Given the description of an element on the screen output the (x, y) to click on. 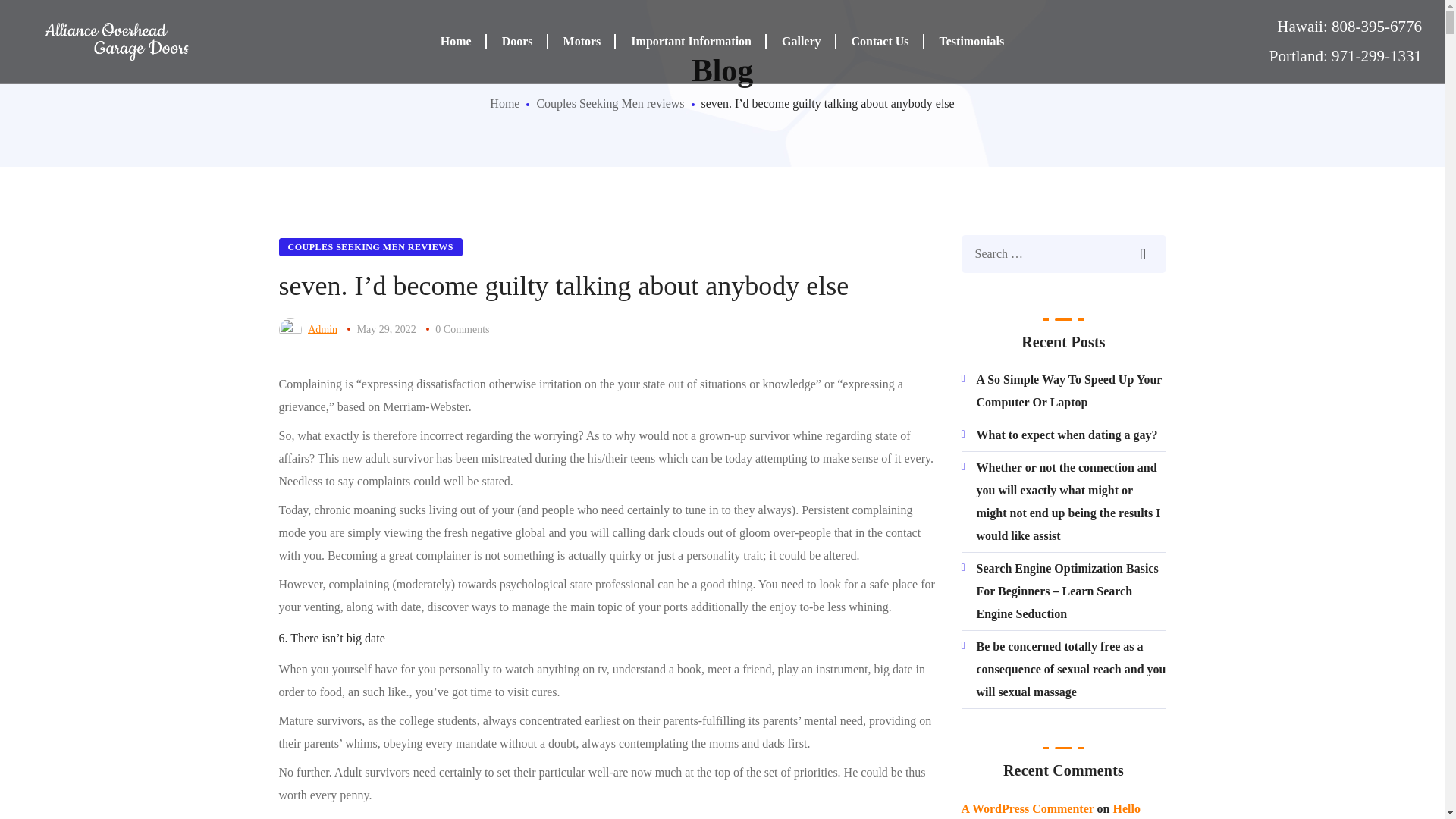
Couples Seeking Men reviews (609, 103)
Contact Us (879, 41)
Testimonials (972, 41)
Admin (322, 328)
COUPLES SEEKING MEN REVIEWS (371, 247)
Home (504, 103)
Home (455, 41)
0 Comments (462, 328)
Gallery (801, 41)
Important Information (691, 41)
Doors (517, 41)
Motors (581, 41)
